Given the description of an element on the screen output the (x, y) to click on. 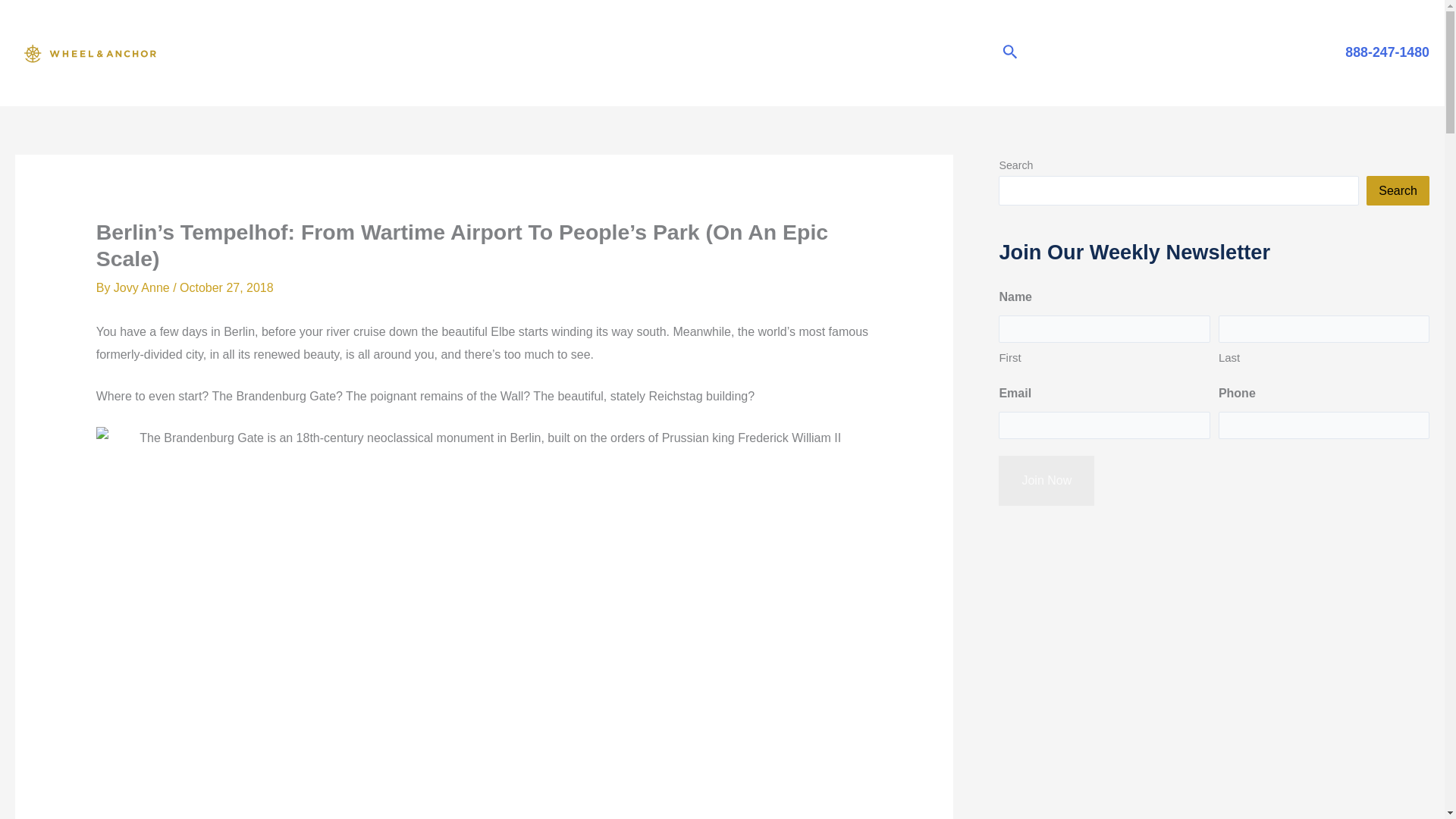
 888-247-1480 (1384, 52)
View all posts by Jovy Anne (143, 287)
COMMUNITY (556, 53)
Join Now (1046, 480)
TRAVEL GUIDES (919, 53)
